Given the description of an element on the screen output the (x, y) to click on. 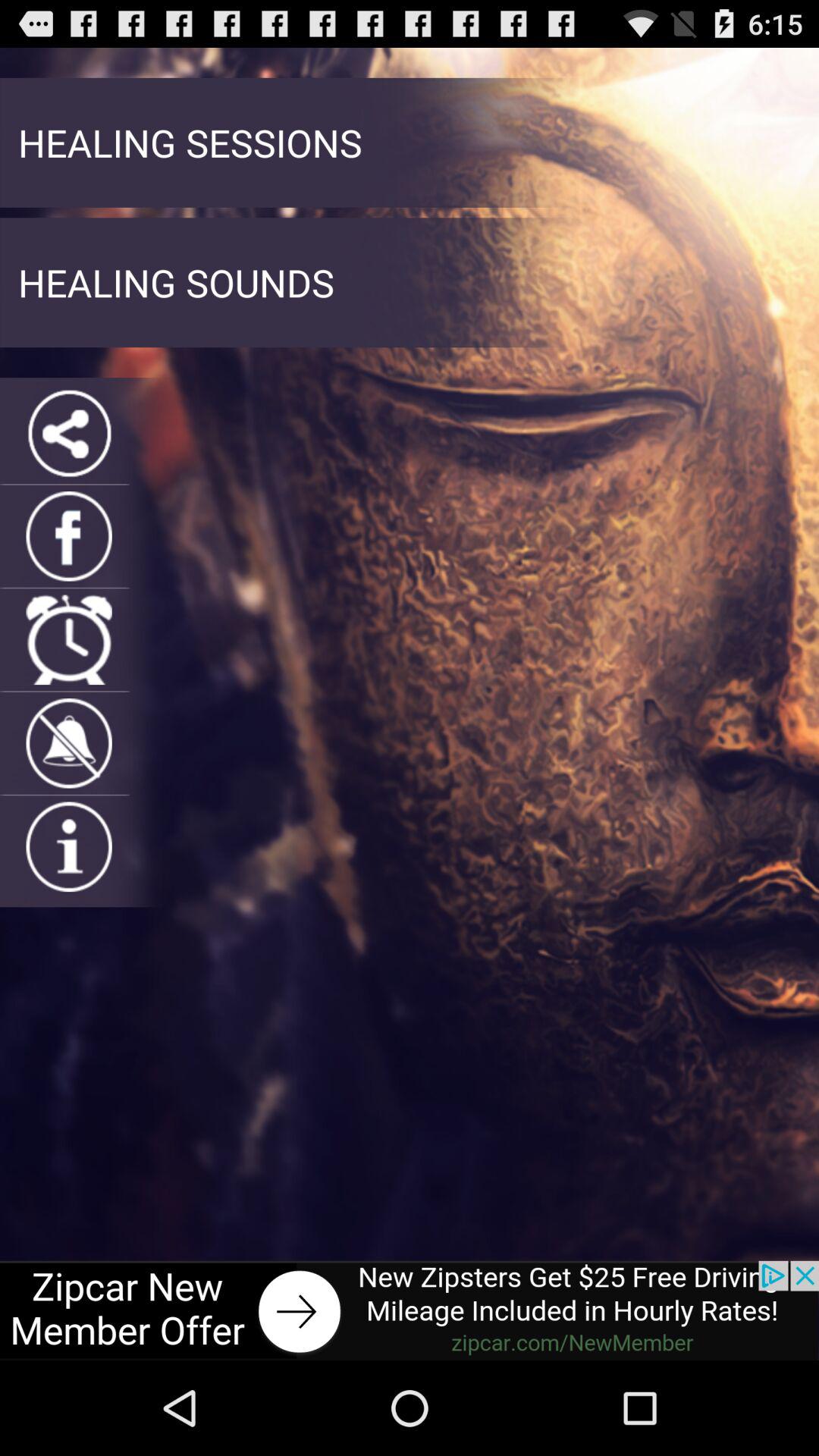
get more information (69, 846)
